Given the description of an element on the screen output the (x, y) to click on. 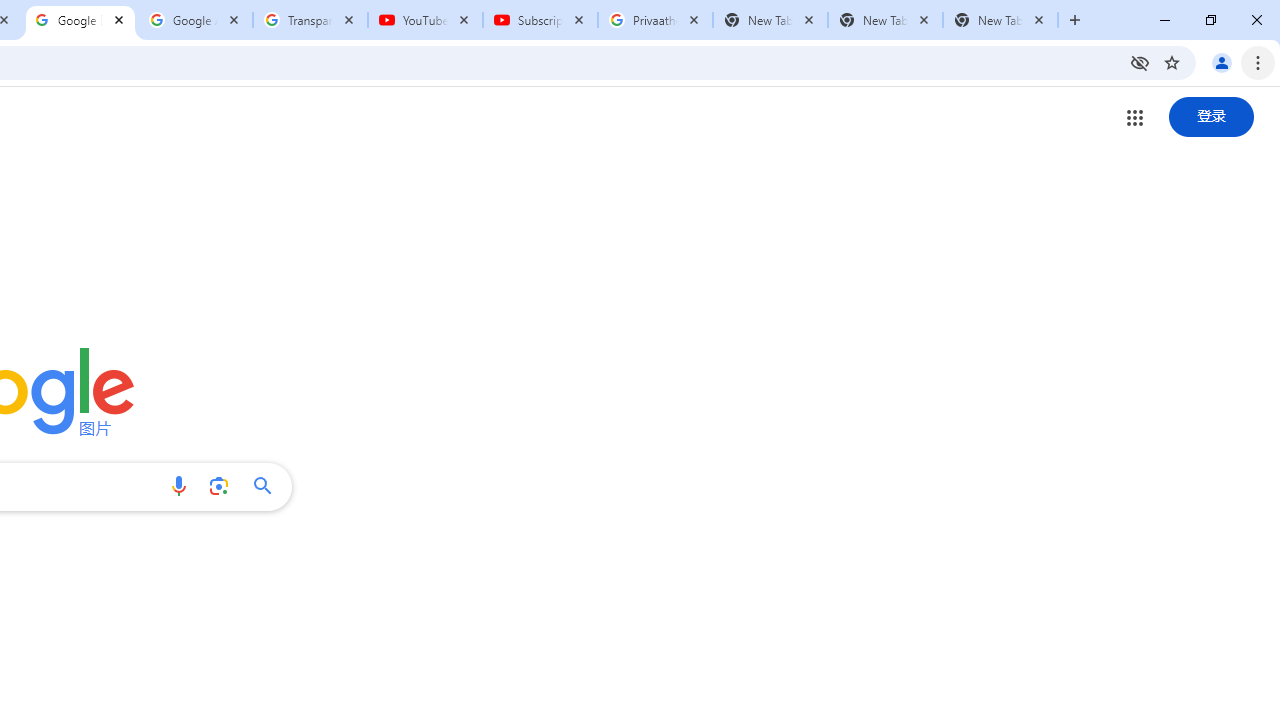
Google Account (195, 20)
New Tab (1000, 20)
Subscriptions - YouTube (539, 20)
